Given the description of an element on the screen output the (x, y) to click on. 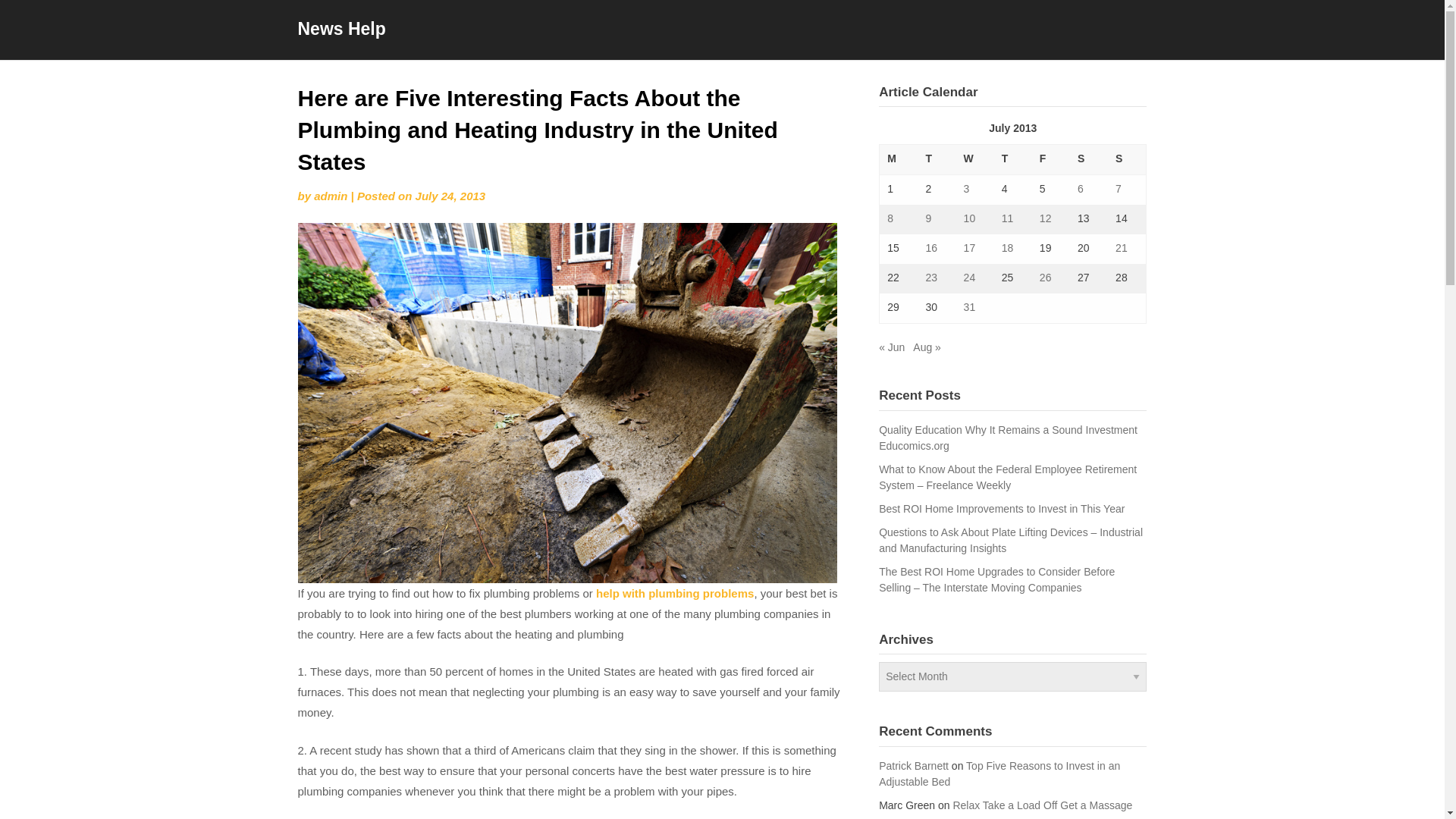
Saturday (1089, 159)
Thursday (1013, 159)
Wednesday (975, 159)
17 (969, 247)
23 (930, 277)
12 (1045, 218)
10 (969, 218)
Friday (1051, 159)
Sunday (1127, 159)
16 (930, 247)
